Given the description of an element on the screen output the (x, y) to click on. 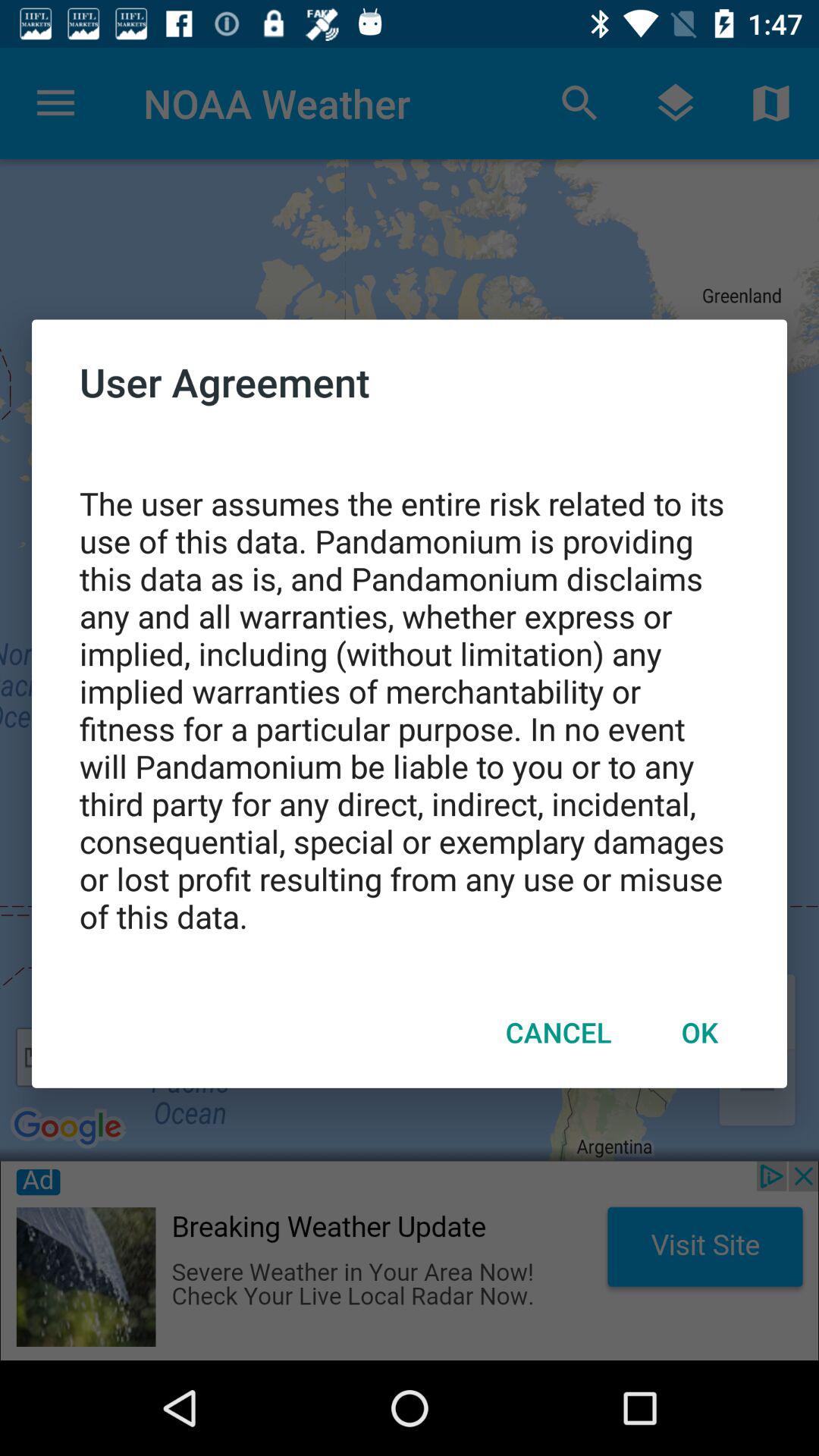
turn off the icon to the right of cancel (699, 1032)
